Given the description of an element on the screen output the (x, y) to click on. 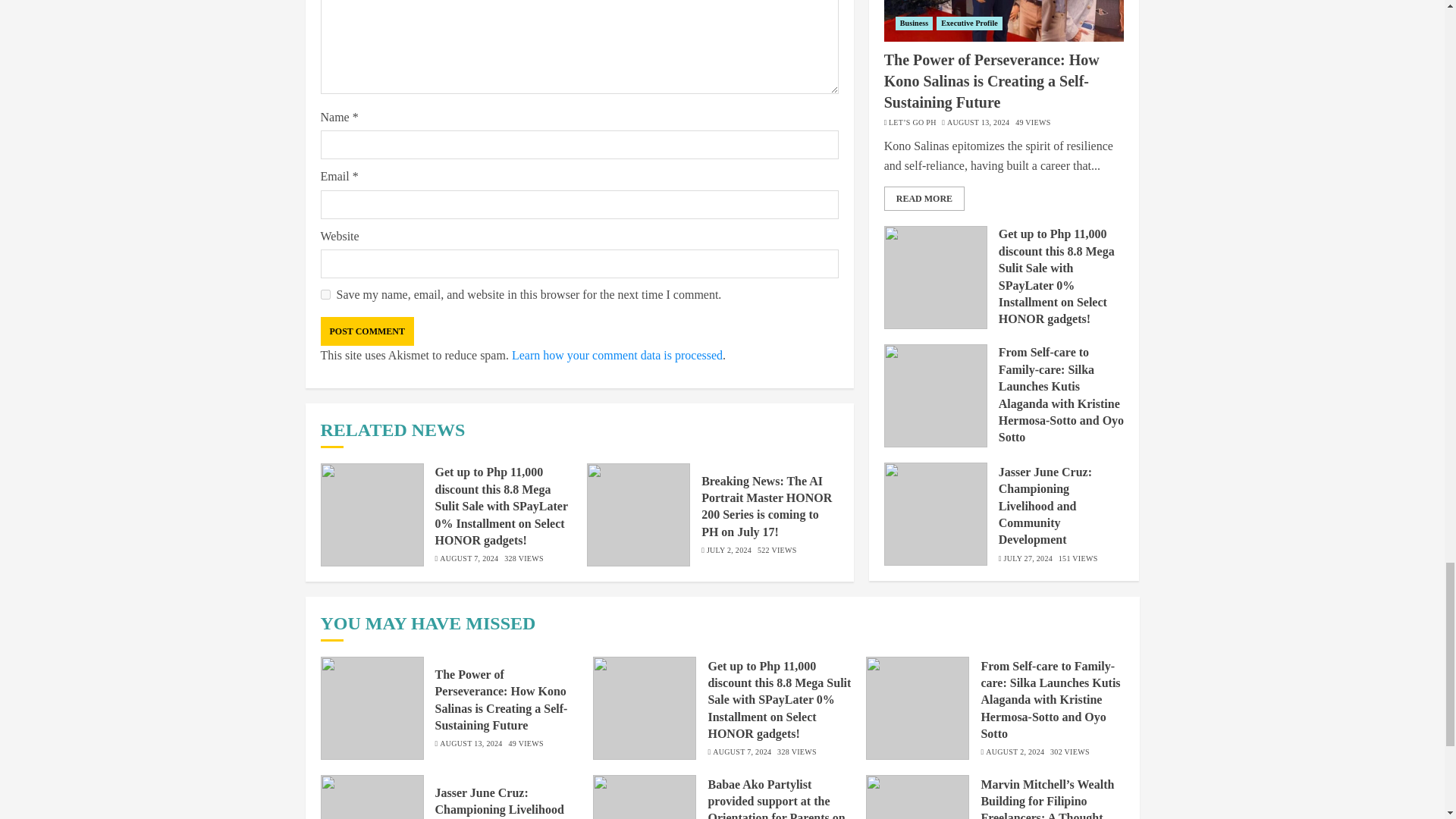
yes (325, 294)
Post Comment (366, 330)
Learn how your comment data is processed (617, 354)
Post Comment (366, 330)
